Given the description of an element on the screen output the (x, y) to click on. 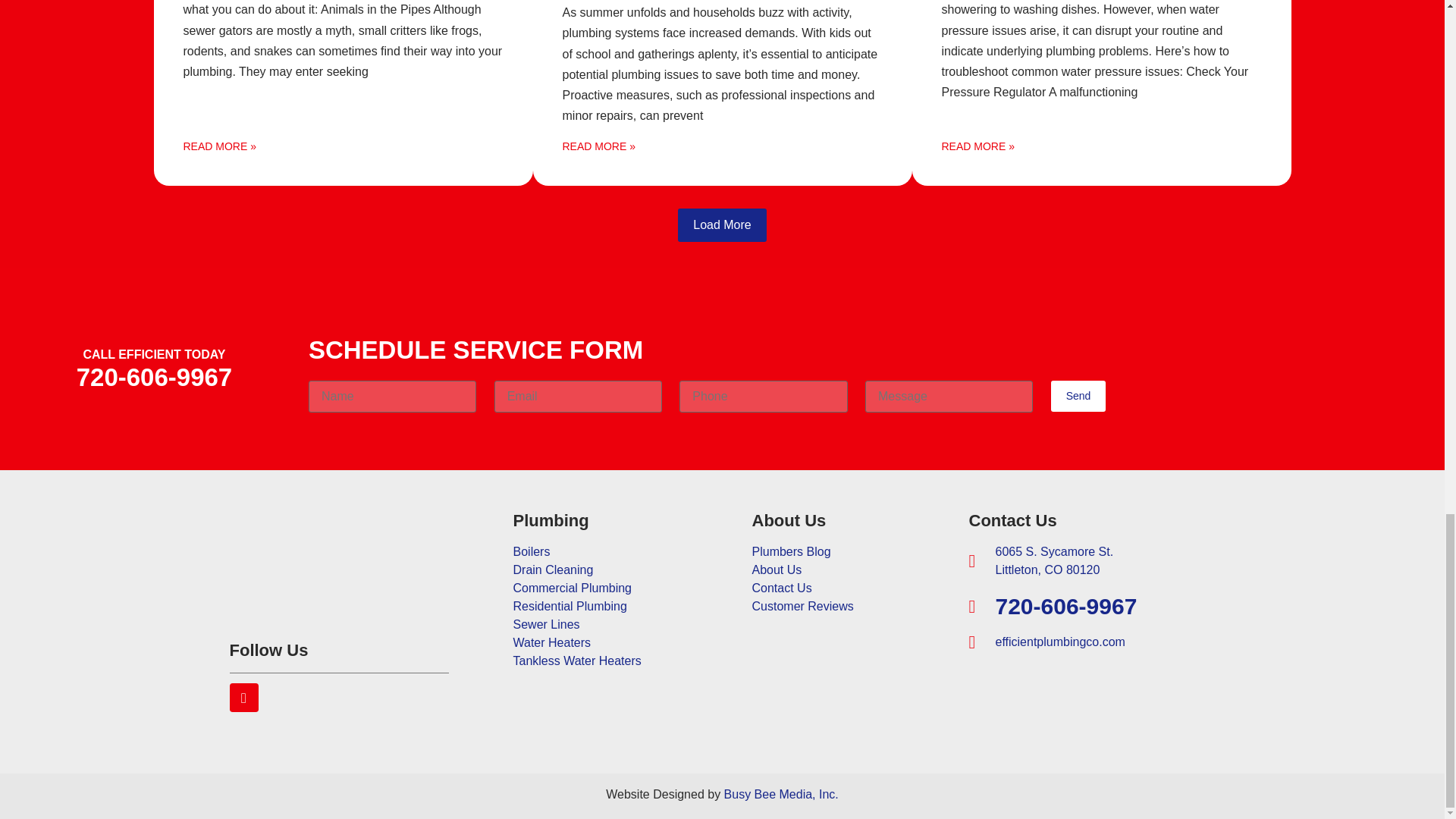
Send (1078, 395)
